Given the description of an element on the screen output the (x, y) to click on. 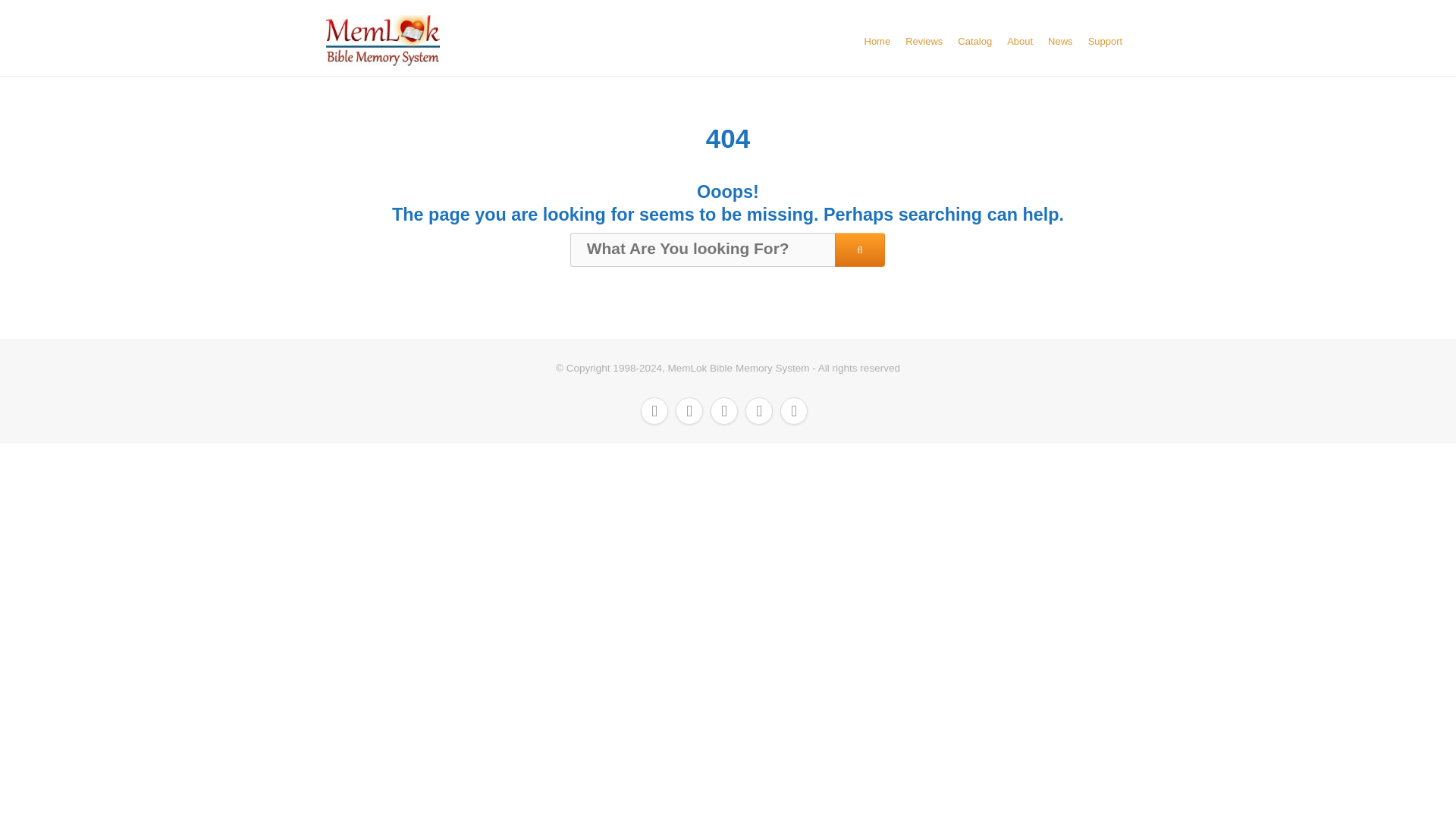
About (1019, 41)
Support (1104, 41)
Catalog (974, 41)
News (1060, 41)
Reviews (923, 41)
Home (877, 41)
